Given the description of an element on the screen output the (x, y) to click on. 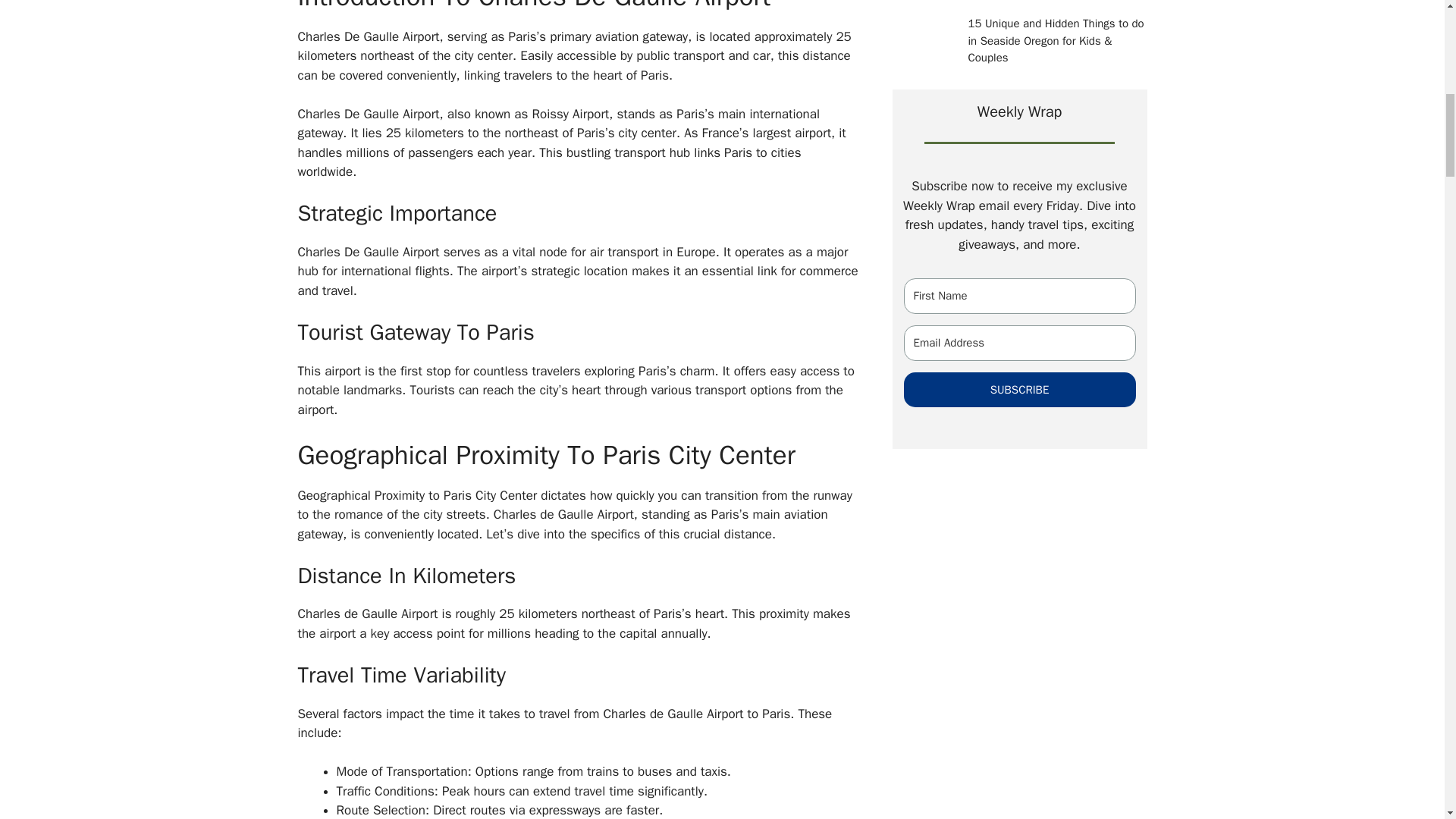
SUBSCRIBE (1019, 389)
